Given the description of an element on the screen output the (x, y) to click on. 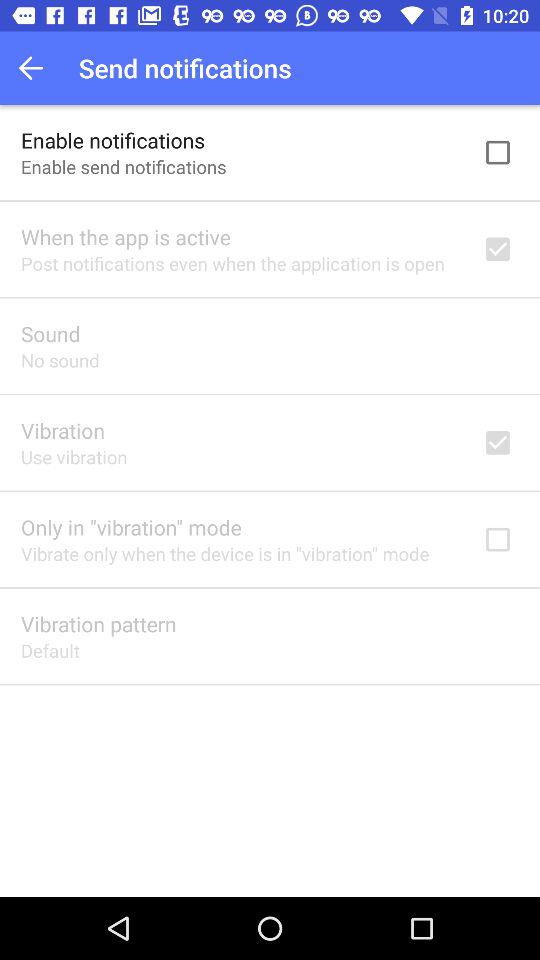
launch icon above only in vibration (74, 456)
